Given the description of an element on the screen output the (x, y) to click on. 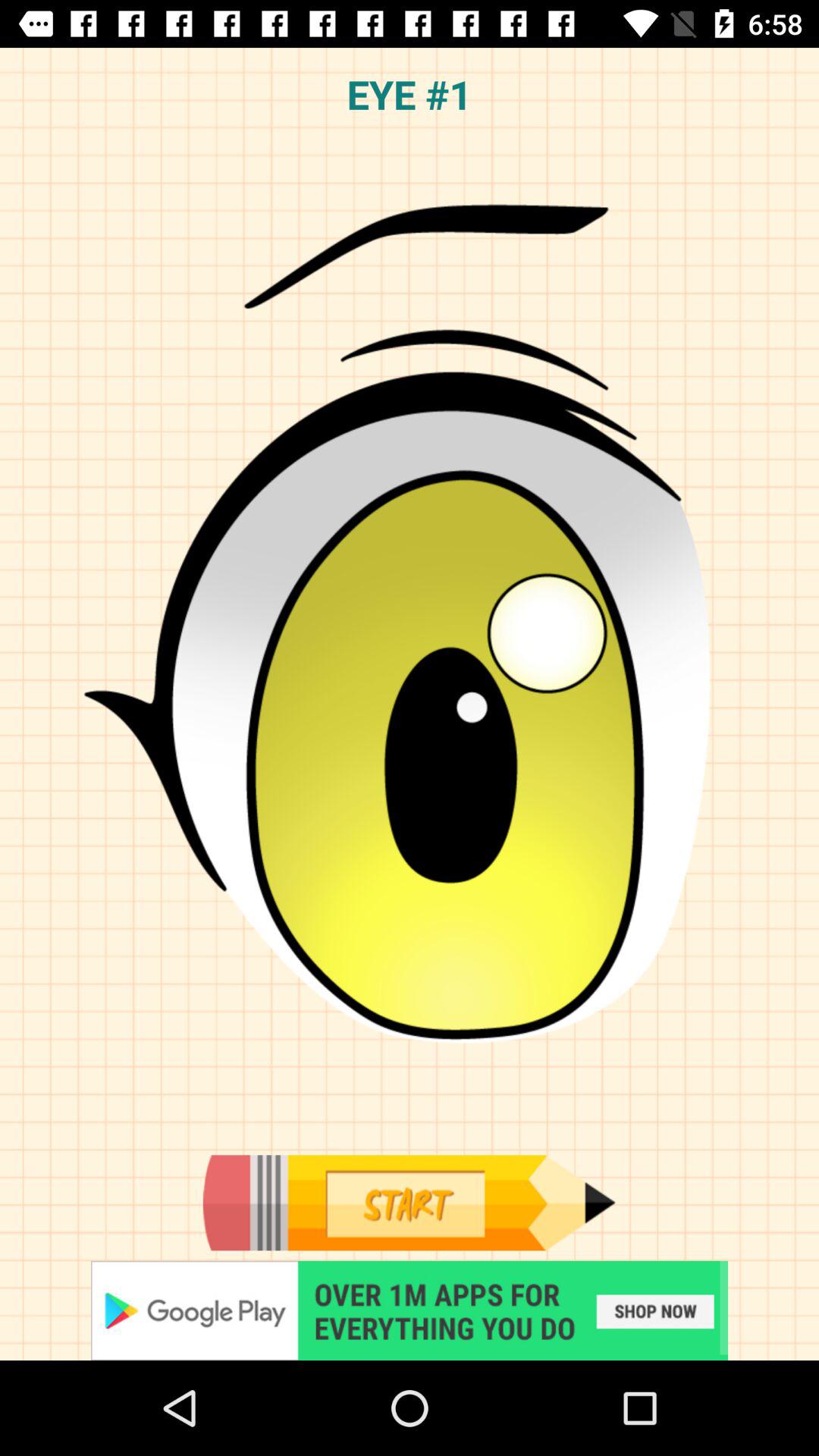
go to start putturn (409, 1202)
